Given the description of an element on the screen output the (x, y) to click on. 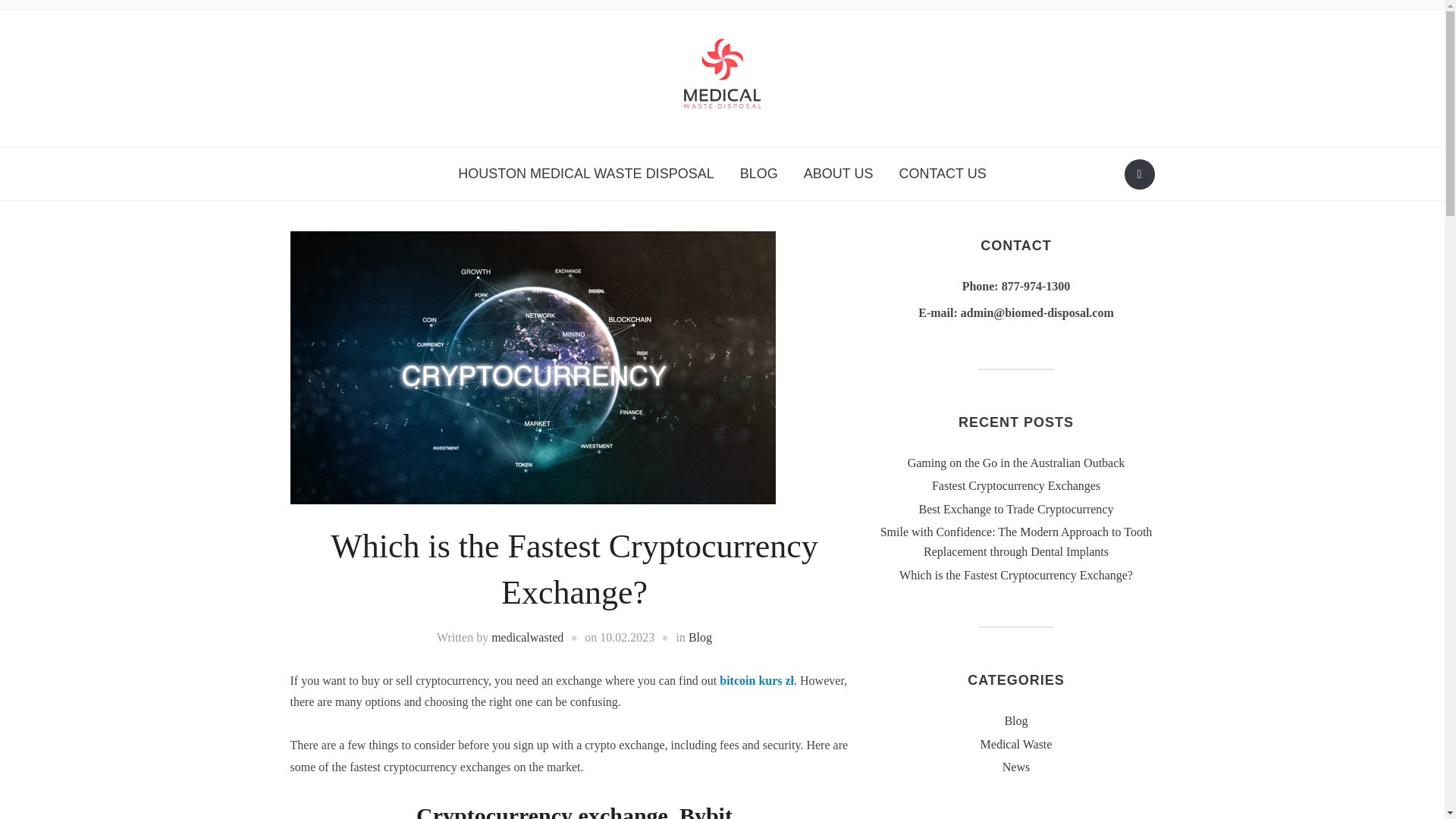
CONTACT US (941, 173)
Search (1139, 173)
News (1016, 766)
Posts by medicalwasted (527, 636)
Blog (699, 636)
Which is the Fastest Cryptocurrency Exchange? (1015, 574)
ABOUT US (838, 173)
medicalwasted (527, 636)
BLOG (759, 173)
Blog (1015, 720)
Best Exchange to Trade Cryptocurrency (1015, 508)
HOUSTON MEDICAL WASTE DISPOSAL (585, 173)
Fastest Cryptocurrency Exchanges (1015, 485)
Medical Waste (1015, 744)
